Given the description of an element on the screen output the (x, y) to click on. 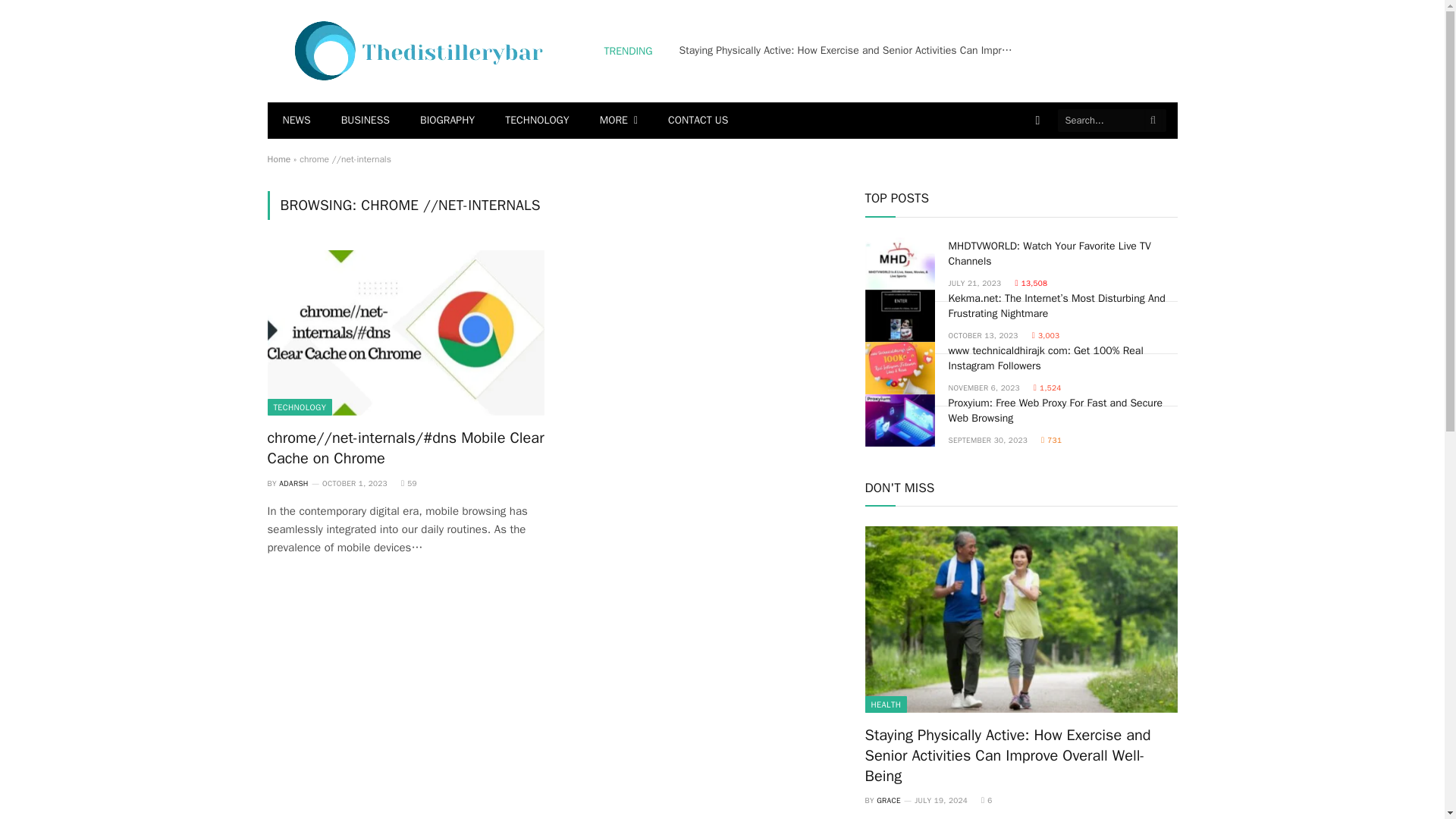
59 Article Views (408, 483)
Switch to Dark Design - easier on eyes. (1036, 120)
TECHNOLOGY (536, 120)
BUSINESS (365, 120)
BIOGRAPHY (446, 120)
MHDTVWORLD: Watch Your Favorite Live TV Channels (899, 263)
NEWS (295, 120)
13508 Article Views (1030, 283)
3003 Article Views (1045, 335)
Posts by adarsh (293, 483)
